Given the description of an element on the screen output the (x, y) to click on. 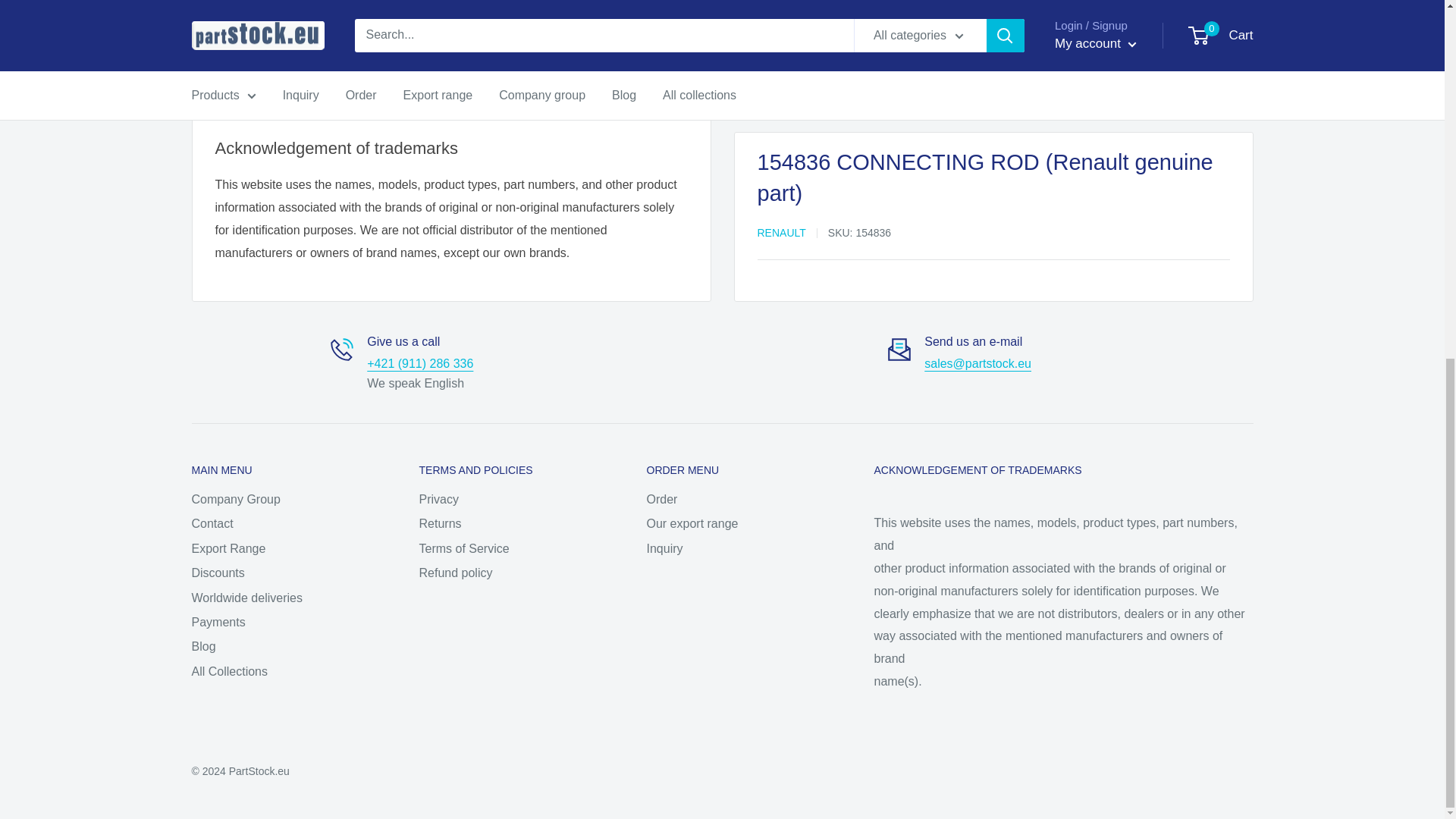
Inquiry (977, 363)
How to pay? (241, 92)
